Given the description of an element on the screen output the (x, y) to click on. 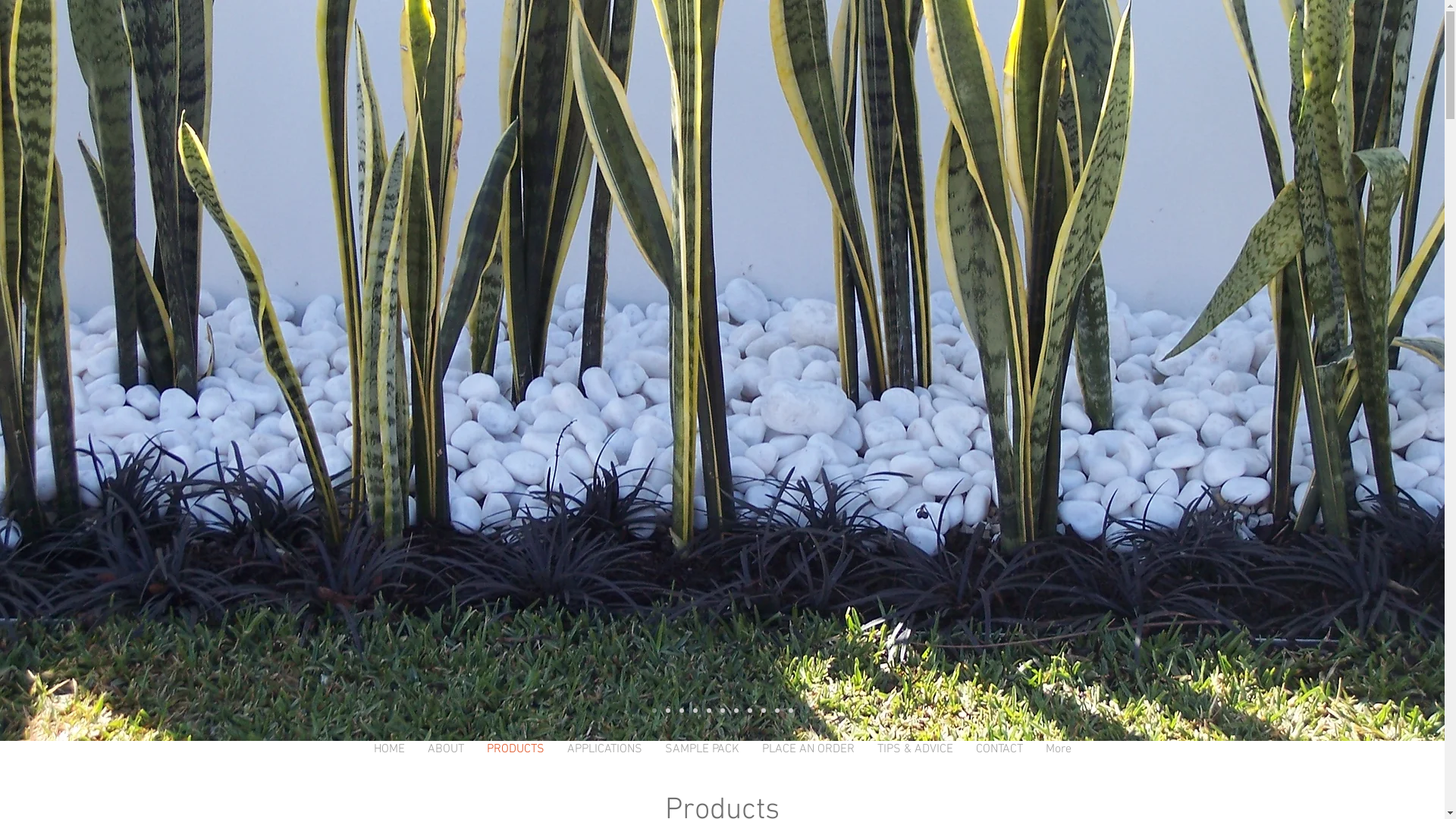
SAMPLE PACK Element type: text (701, 759)
HOME Element type: text (389, 759)
APPLICATIONS Element type: text (603, 759)
TIPS & ADVICE Element type: text (915, 759)
PRODUCTS Element type: text (514, 759)
PLACE AN ORDER Element type: text (808, 759)
CONTACT Element type: text (999, 759)
ABOUT Element type: text (444, 759)
